Given the description of an element on the screen output the (x, y) to click on. 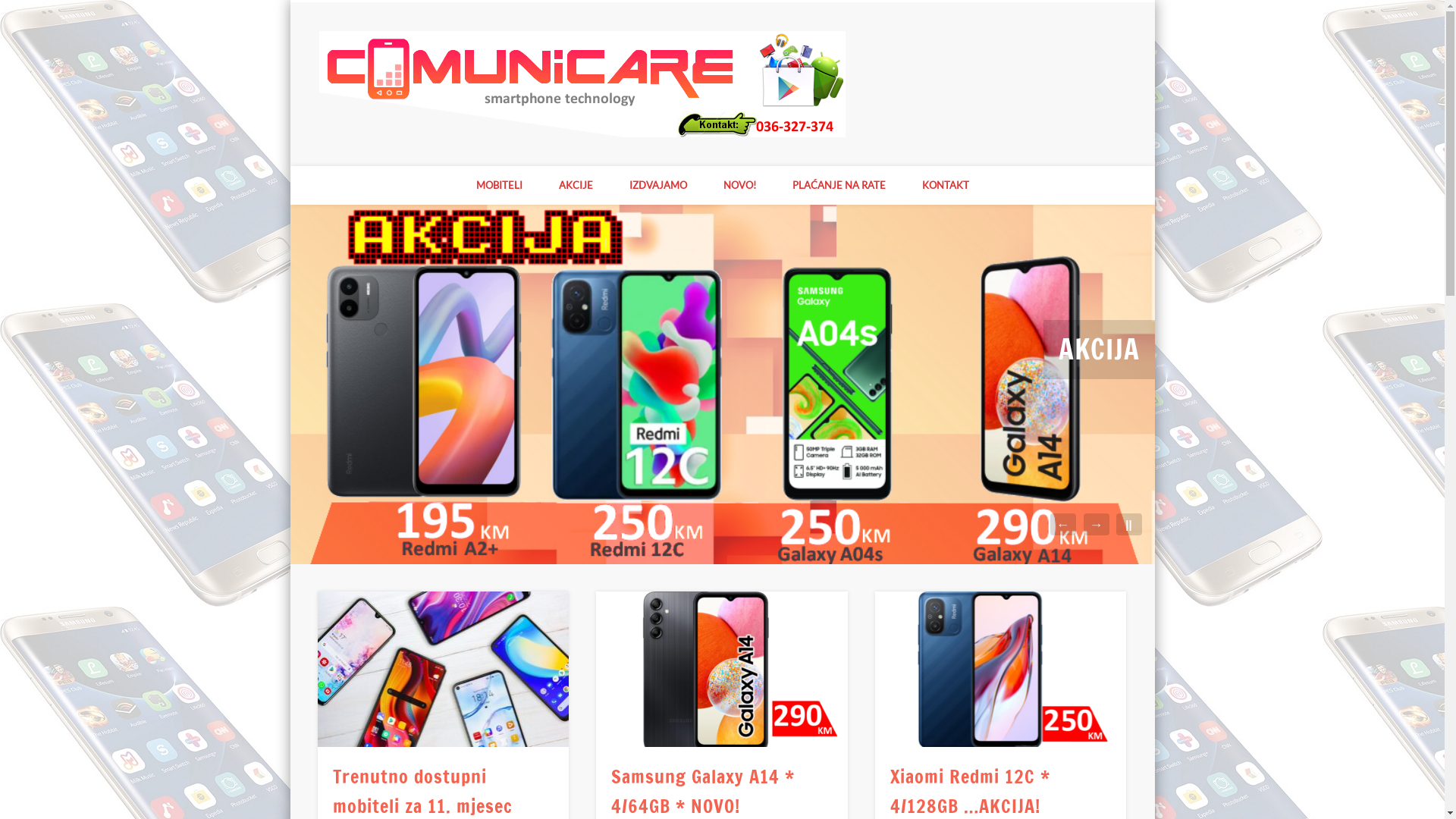
COMUNICARE shop Element type: text (975, 59)
Trenutno dostupni mobiteli za 11. mjesec Element type: hover (443, 668)
Samsung Galaxy A14 * 4/64GB * NOVO! Element type: hover (721, 668)
IZDVAJAMO Element type: text (658, 185)
AKCIJE Element type: text (574, 185)
AKCIJA Element type: hover (721, 384)
NOVO! Element type: text (739, 185)
MOBITELI Element type: text (499, 185)
AKCIJA Element type: text (1098, 349)
Search Element type: text (11, 9)
|| Element type: text (1129, 524)
KONTAKT Element type: text (945, 185)
